Given the description of an element on the screen output the (x, y) to click on. 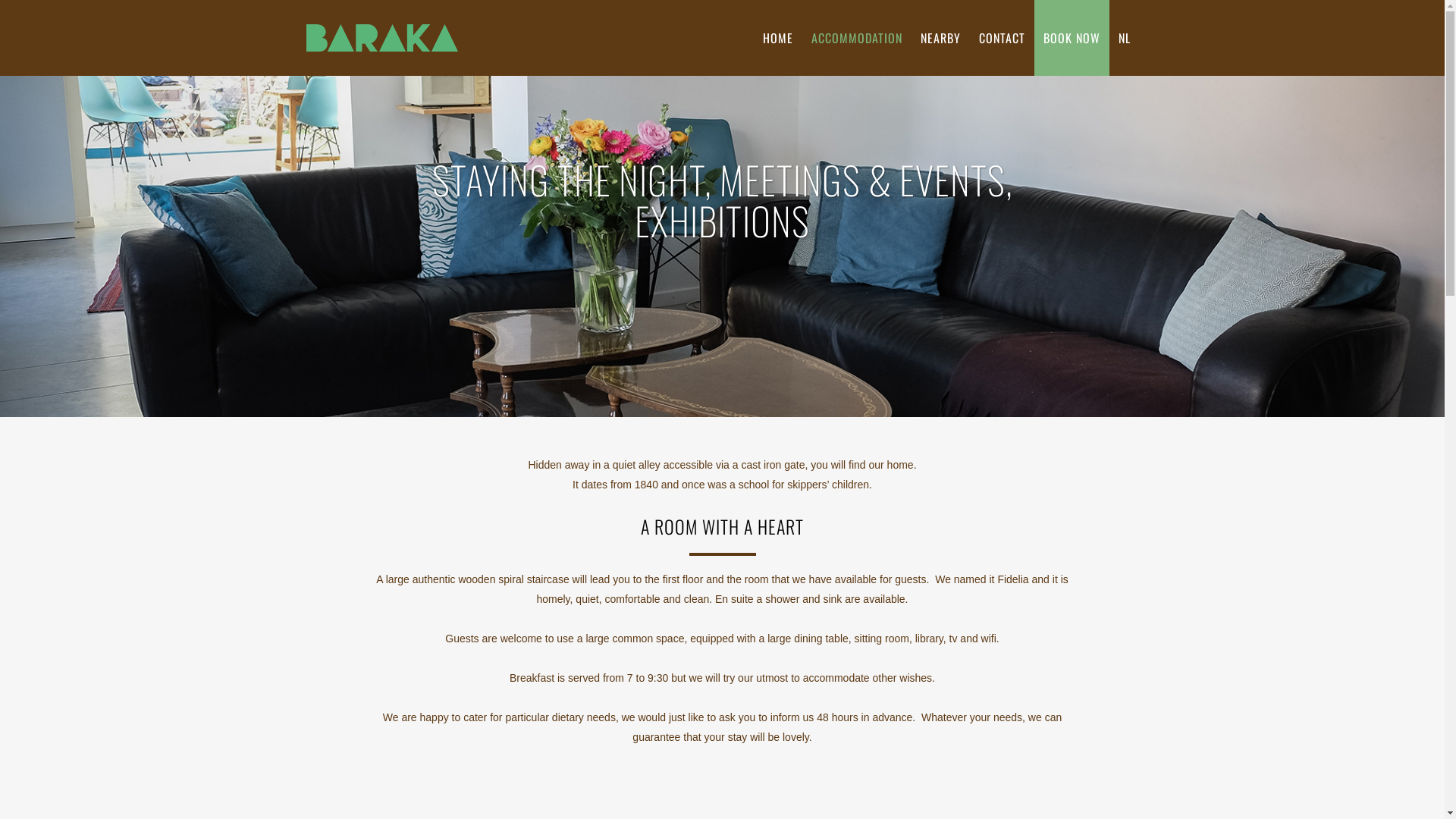
NEARBY Element type: text (940, 37)
ACCOMMODATION Element type: text (856, 37)
HOME Element type: text (777, 37)
CONTACT Element type: text (1001, 37)
BOOK NOW Element type: text (1071, 37)
NL Element type: text (1123, 37)
